Given the description of an element on the screen output the (x, y) to click on. 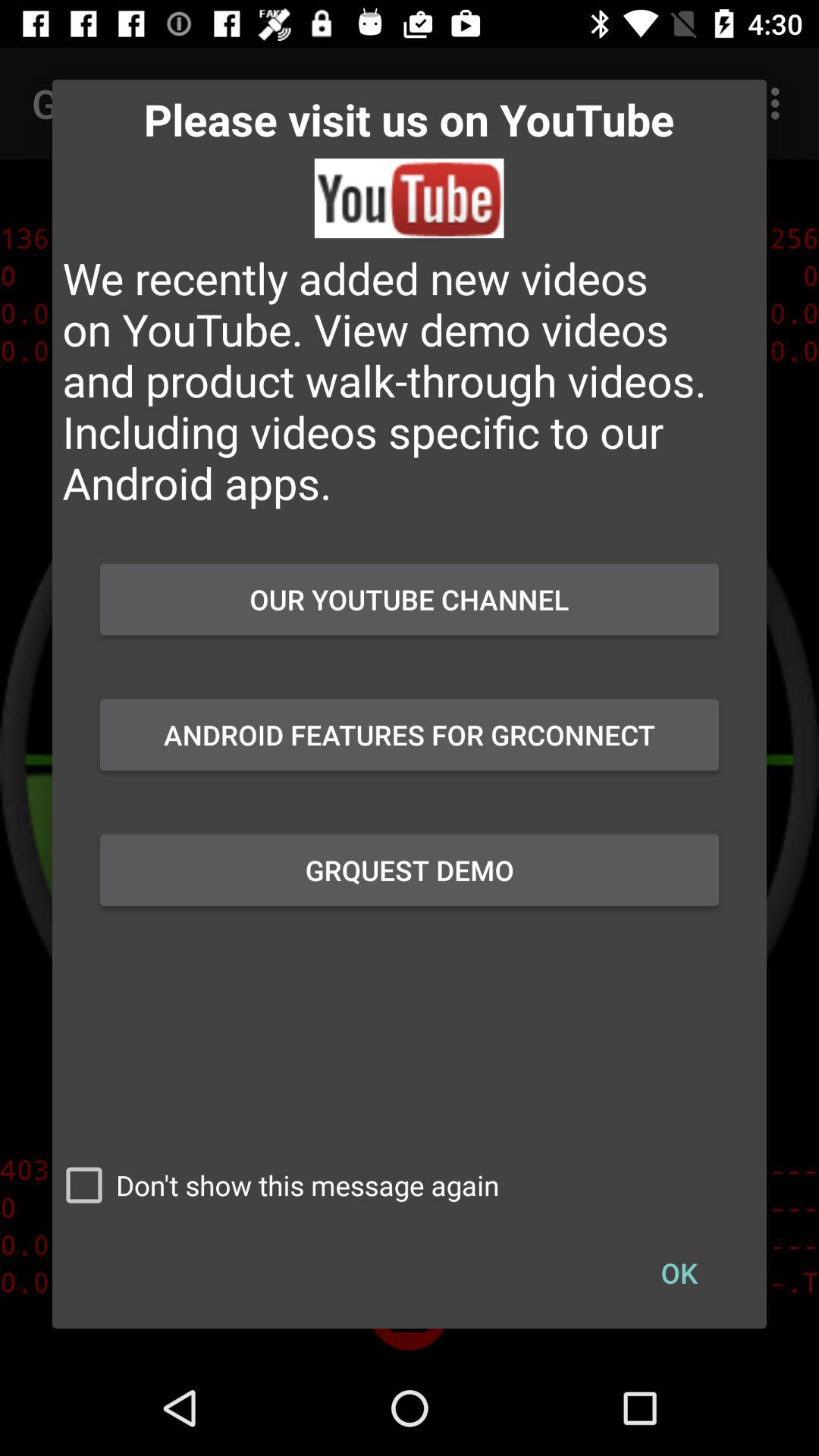
click the item above don t show checkbox (409, 869)
